Given the description of an element on the screen output the (x, y) to click on. 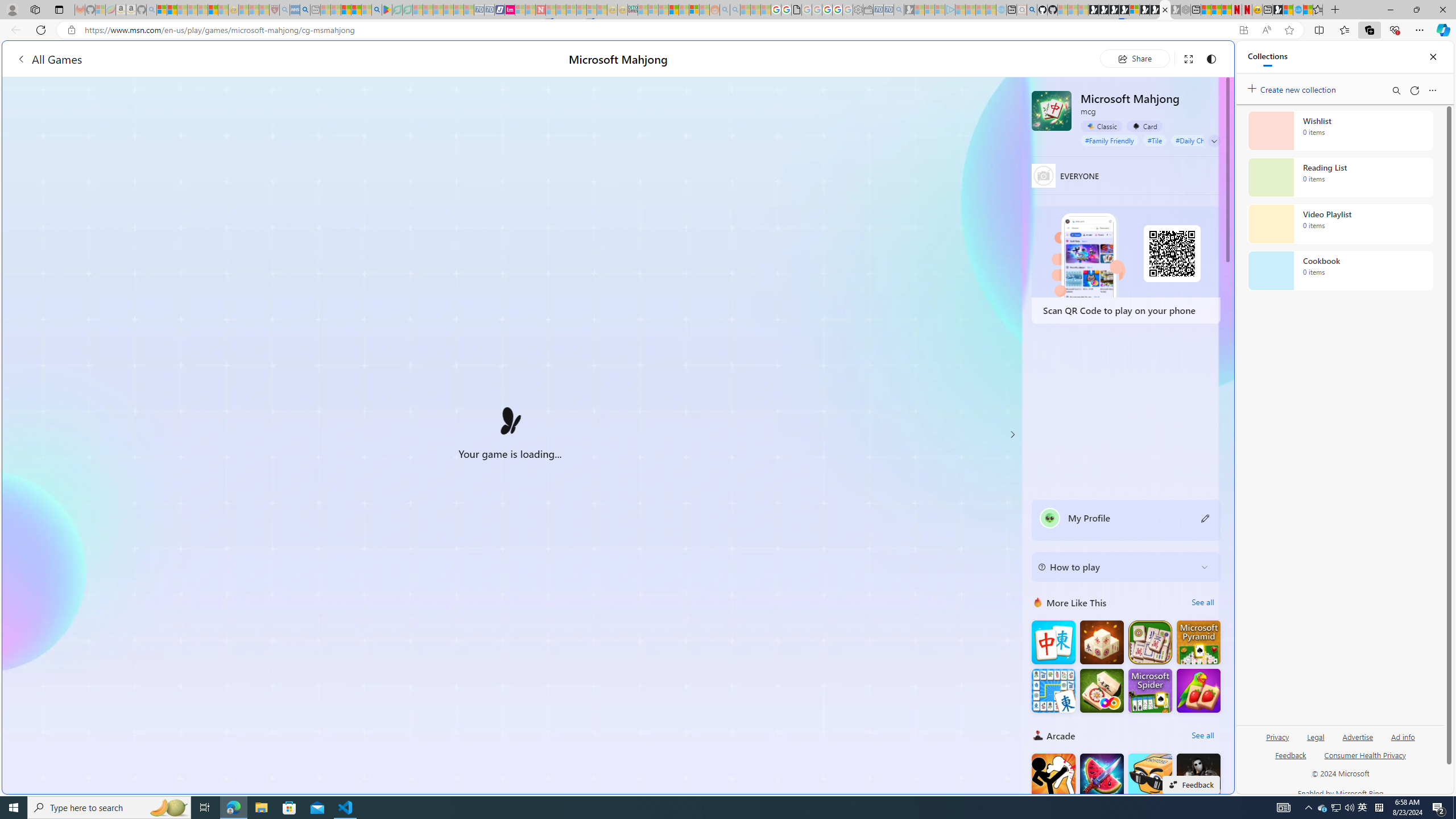
Settings - Sleeping (857, 9)
Search or enter web address (922, 108)
#Family Friendly (1109, 140)
Class: button edit-icon (1205, 517)
Kinda Frugal - MSN - Sleeping (684, 9)
